Given the description of an element on the screen output the (x, y) to click on. 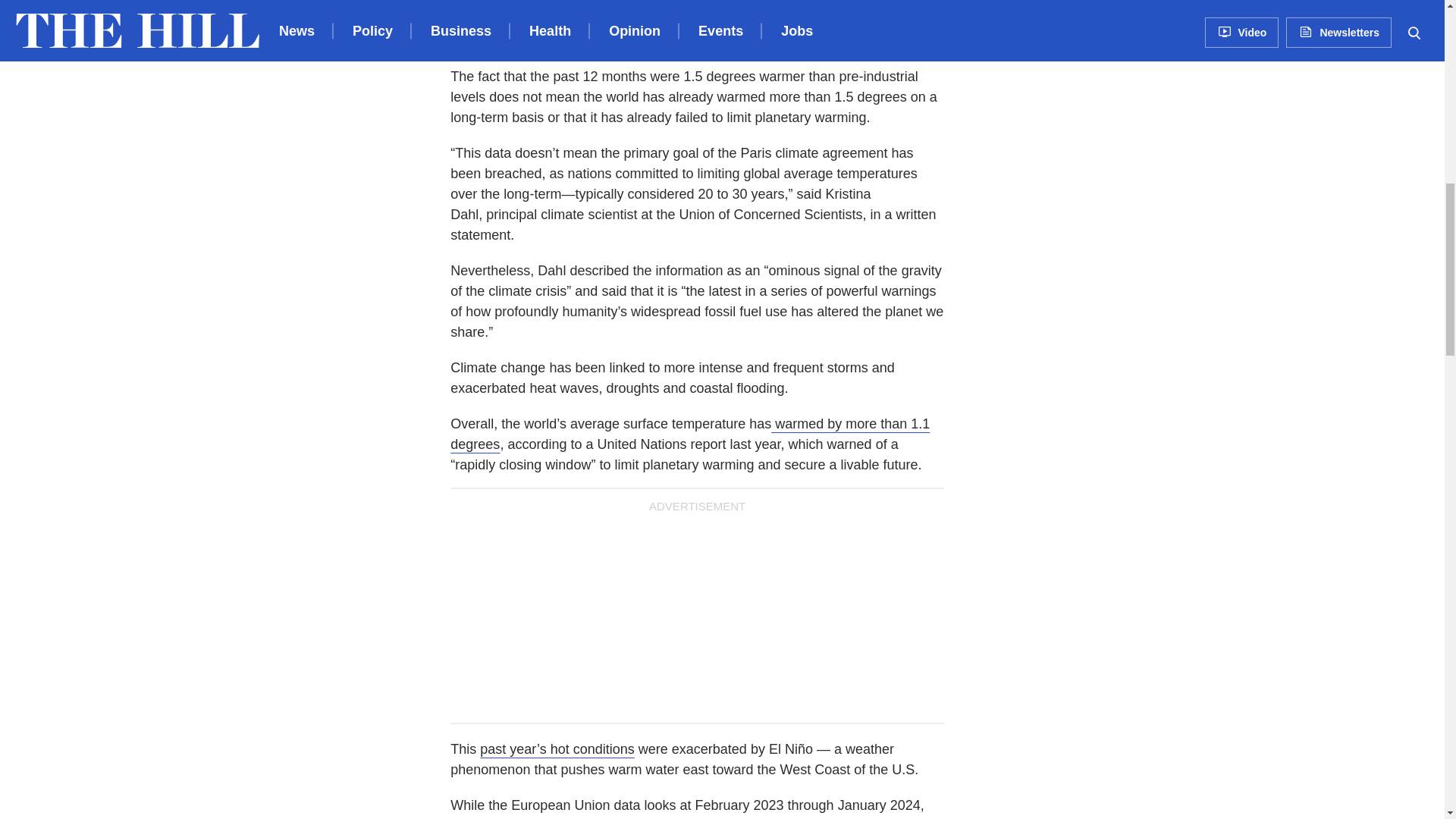
3rd party ad content (696, 614)
3rd party ad content (1093, 8)
3rd party ad content (1093, 123)
3rd party ad content (1093, 325)
